Given the description of an element on the screen output the (x, y) to click on. 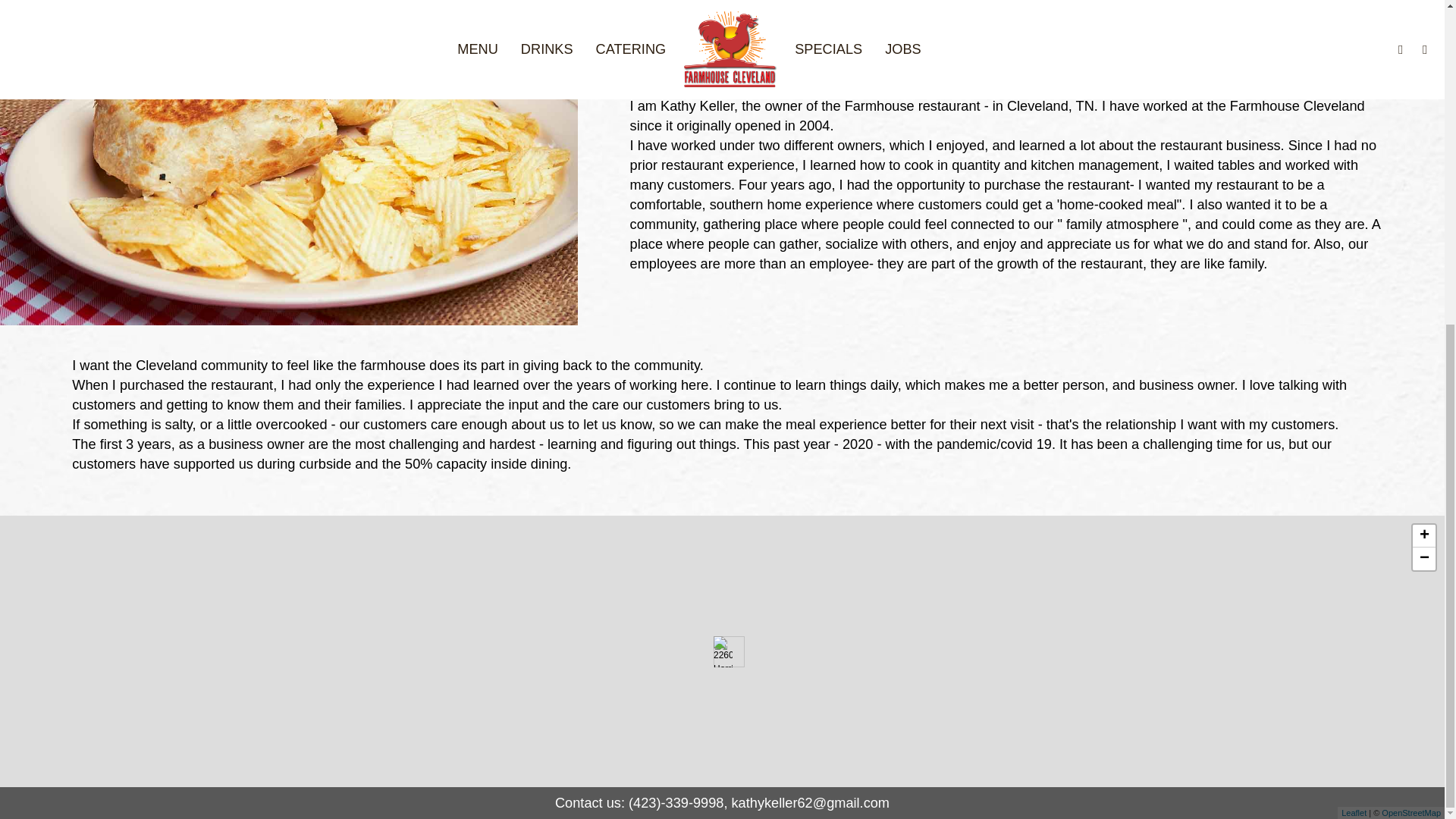
Leaflet (1353, 812)
A JS library for interactive maps (1353, 812)
Zoom in (1423, 535)
Zoom out (1423, 558)
OpenStreetMap (1411, 812)
